Given the description of an element on the screen output the (x, y) to click on. 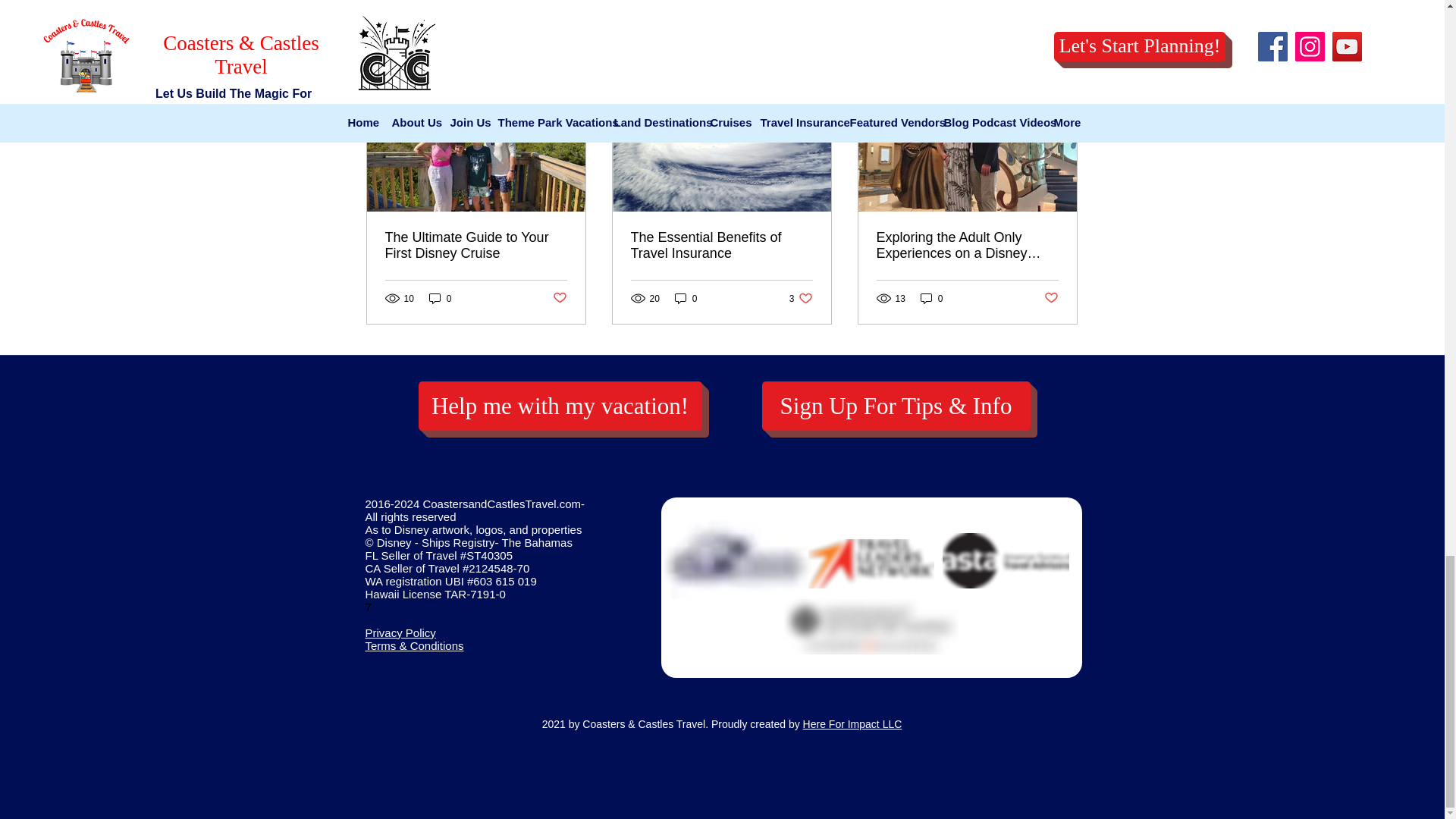
Cruise Lines International Association (738, 554)
Travel Leaders Network (871, 563)
American Society of Travel Advisors (1005, 560)
